Given the description of an element on the screen output the (x, y) to click on. 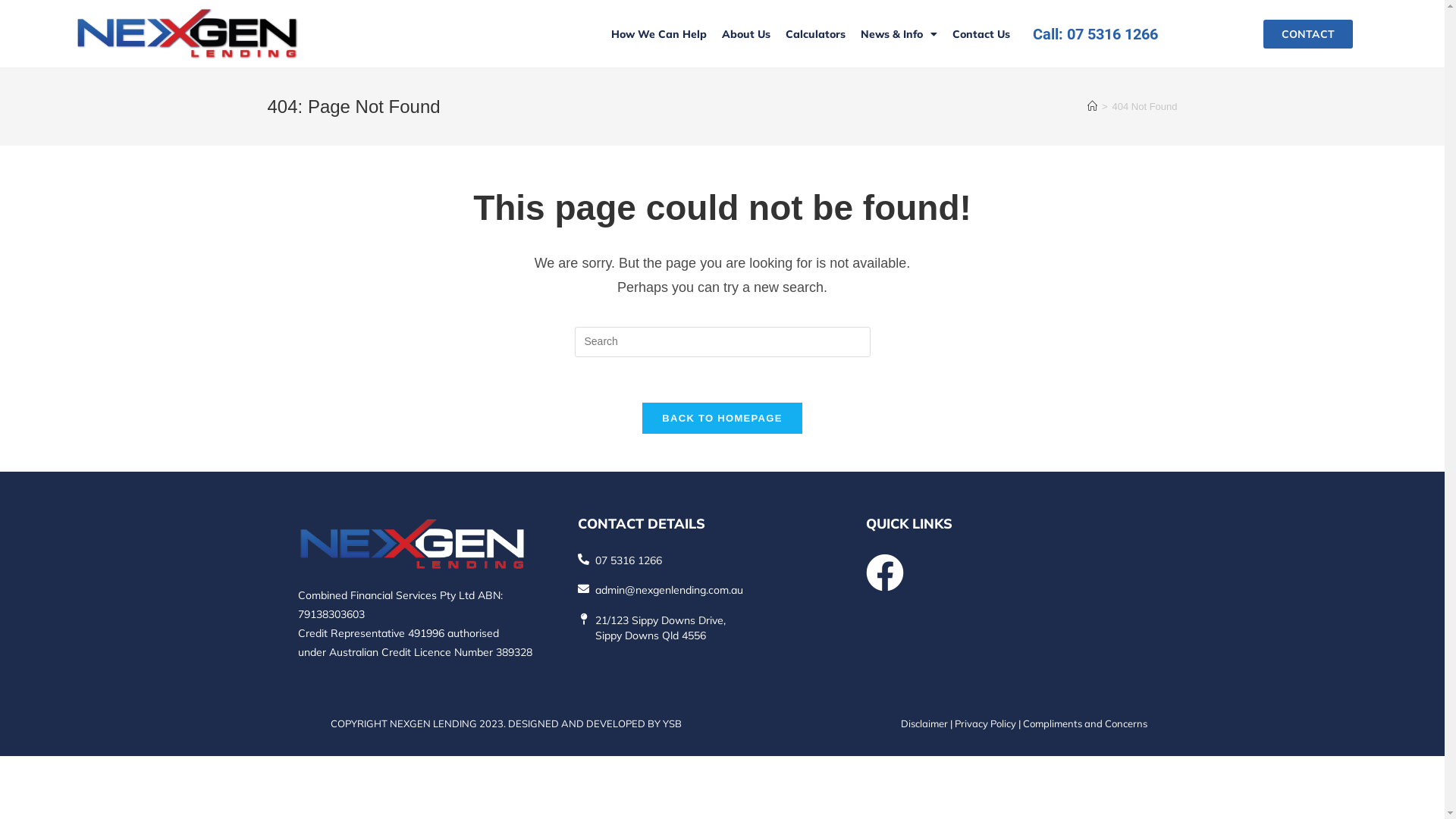
Disclaimer Element type: text (923, 723)
Call: 07 5316 1266 Element type: text (1094, 33)
admin@nexgenlending.com.au Element type: text (669, 589)
CONTACT Element type: text (1307, 33)
News & Info Element type: text (898, 33)
How We Can Help Element type: text (658, 33)
21/123 Sippy Downs Drive,
Sippy Downs Qld 4556 Element type: text (660, 627)
YSB Element type: text (671, 723)
Contact Us Element type: text (980, 33)
Compliments and Concerns Element type: text (1084, 723)
About Us Element type: text (746, 33)
07 5316 1266 Element type: text (628, 560)
BACK TO HOMEPAGE Element type: text (721, 417)
Calculators Element type: text (815, 33)
Privacy Policy Element type: text (984, 723)
